Given the description of an element on the screen output the (x, y) to click on. 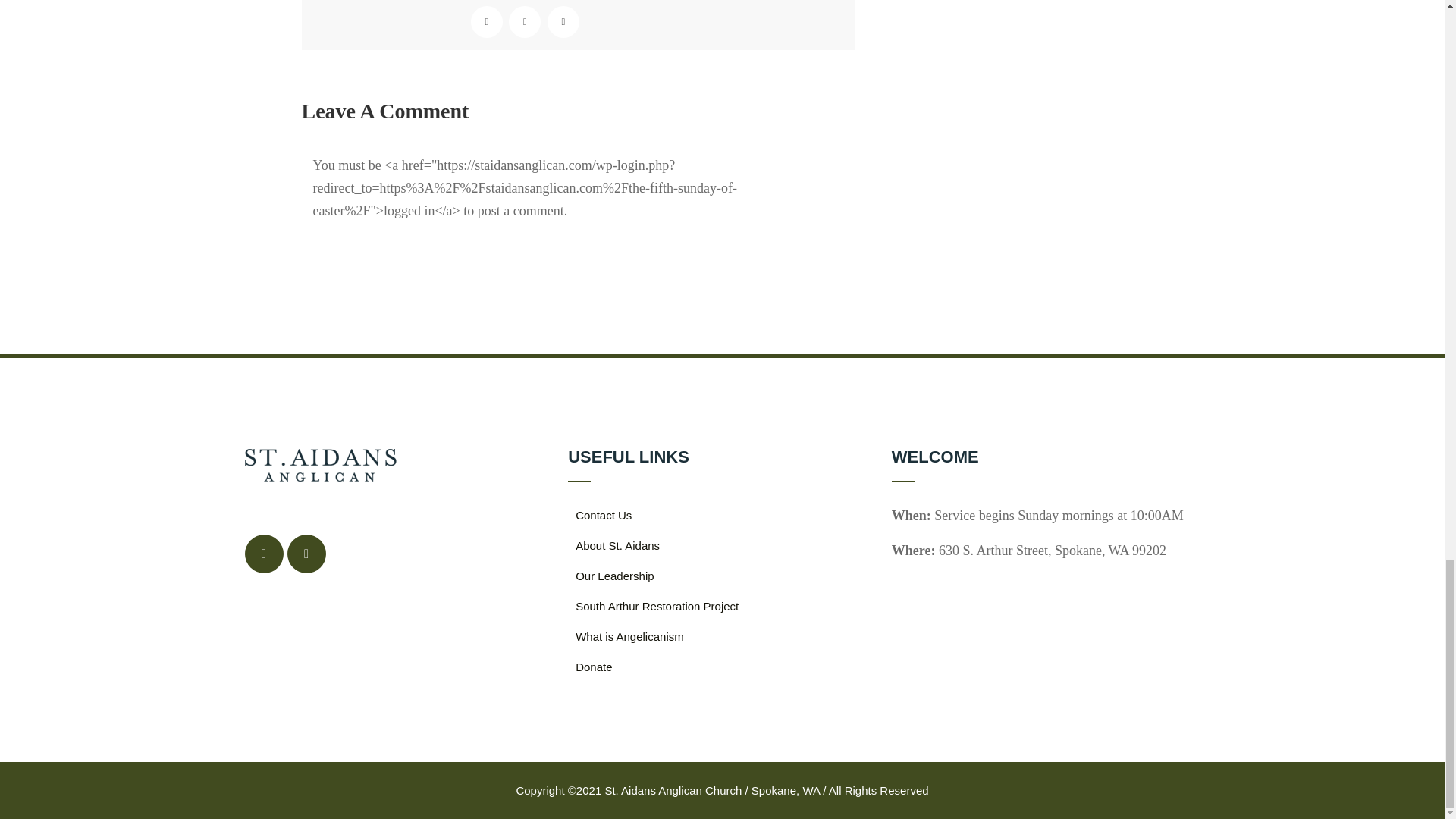
cropped-logo-quick.png (320, 464)
